Given the description of an element on the screen output the (x, y) to click on. 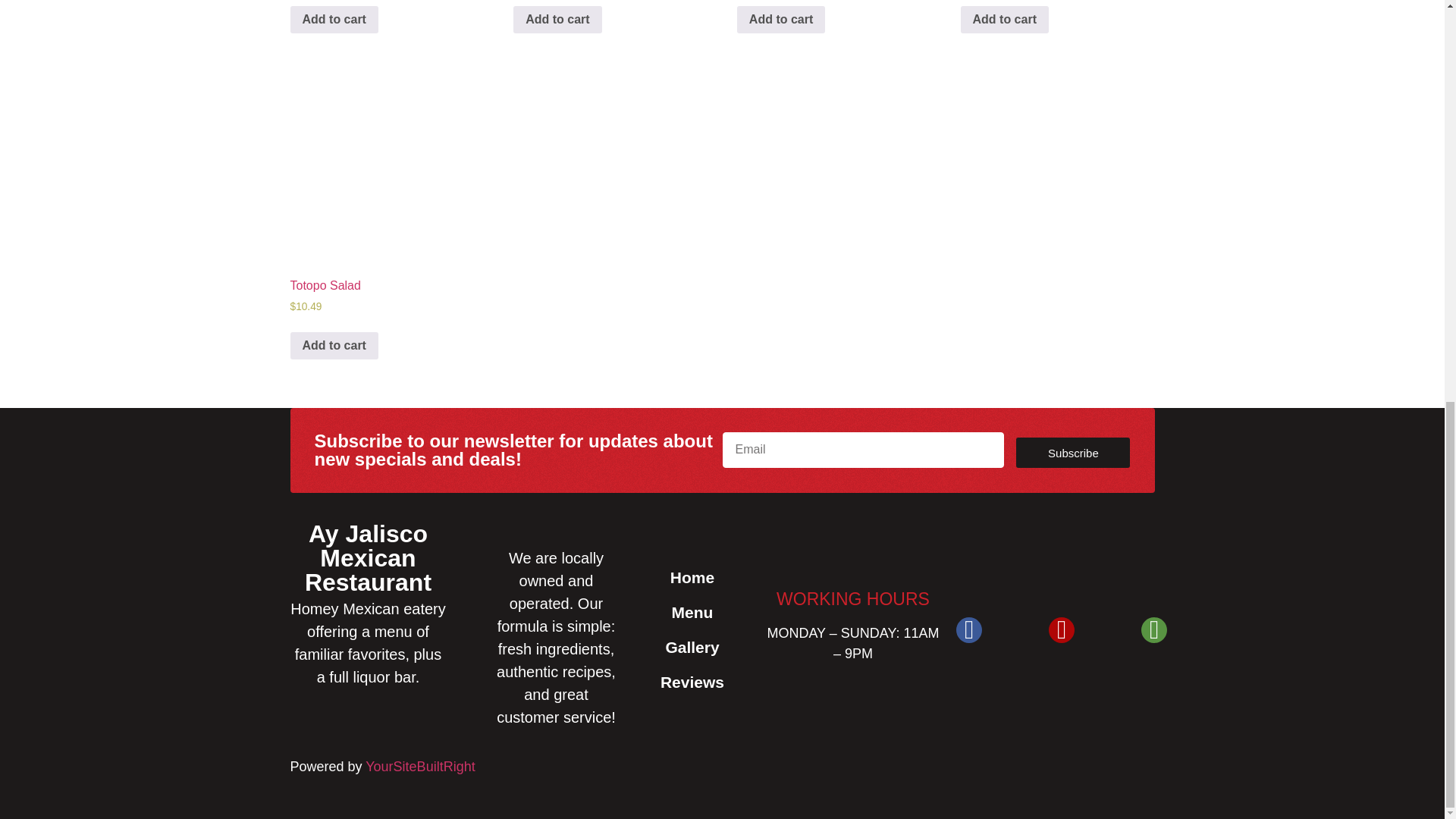
Home (691, 577)
Menu (691, 612)
Add to cart (557, 19)
Gallery (691, 647)
Add to cart (1004, 19)
Add to cart (333, 345)
Subscribe (1072, 452)
Reviews (691, 682)
Add to cart (333, 19)
Add to cart (780, 19)
